Given the description of an element on the screen output the (x, y) to click on. 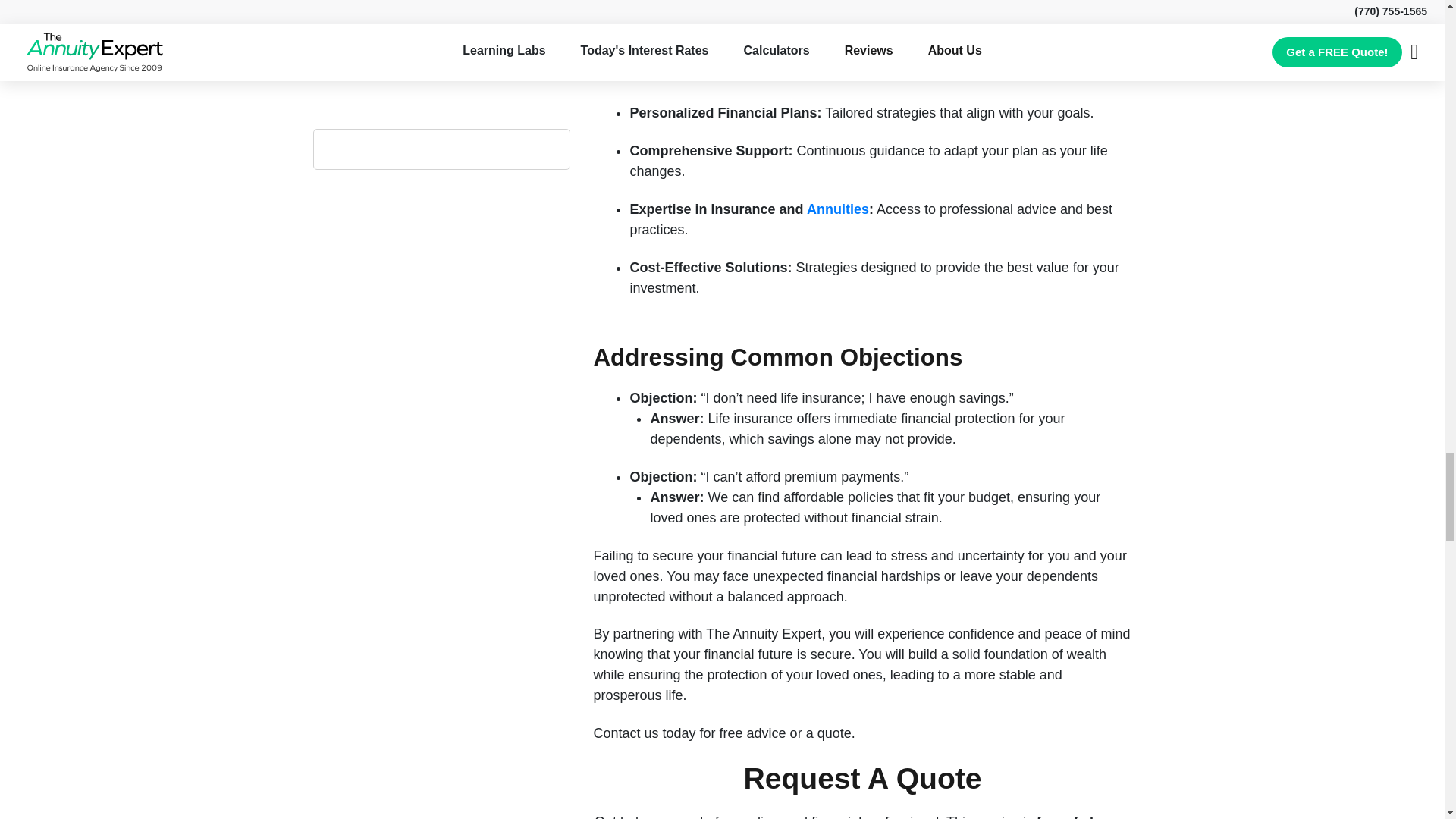
Annuities (837, 209)
